Given the description of an element on the screen output the (x, y) to click on. 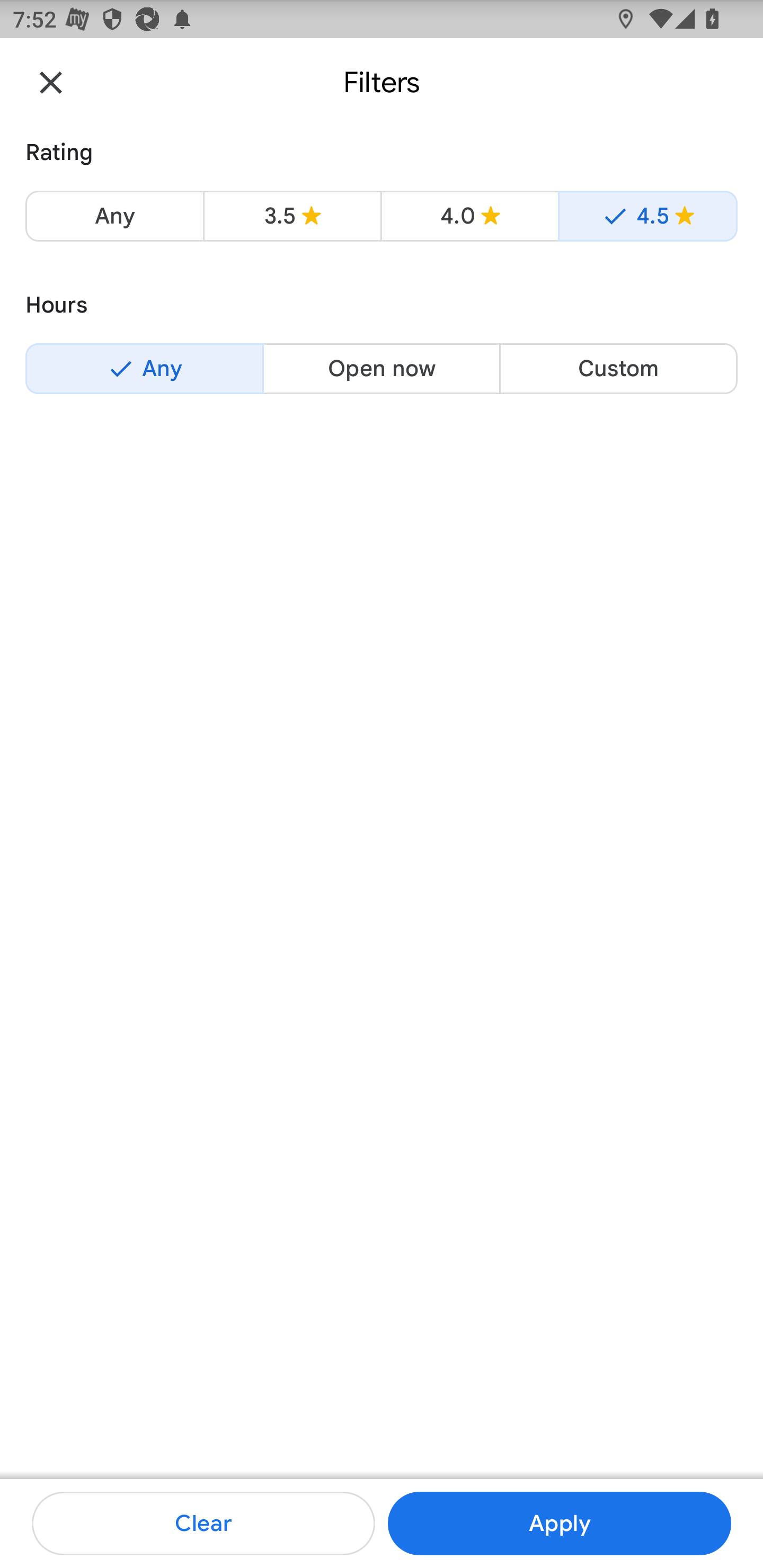
Close menu (50, 81)
Any (114, 216)
3.5 stars (292, 216)
4.0 stars (469, 216)
4.5 stars (647, 216)
Any (144, 368)
Open now (381, 368)
Custom (618, 368)
Clear Clear Clear (203, 1522)
Apply Apply Apply (558, 1522)
